Given the description of an element on the screen output the (x, y) to click on. 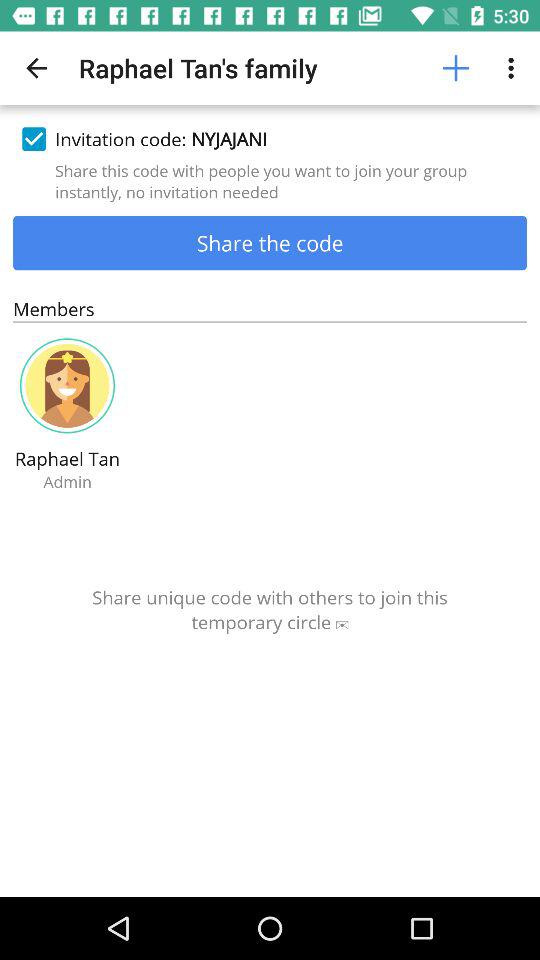
click the  button on the web page (456, 68)
click the button share the code on the web page (269, 242)
click on the blue button which is above members (269, 242)
click on the button which is below the raphael tans family (269, 139)
select the icon which is in between members and raphael tan (67, 385)
click on the button which is next to the raphael tans family (456, 68)
click on the image (67, 385)
